Given the description of an element on the screen output the (x, y) to click on. 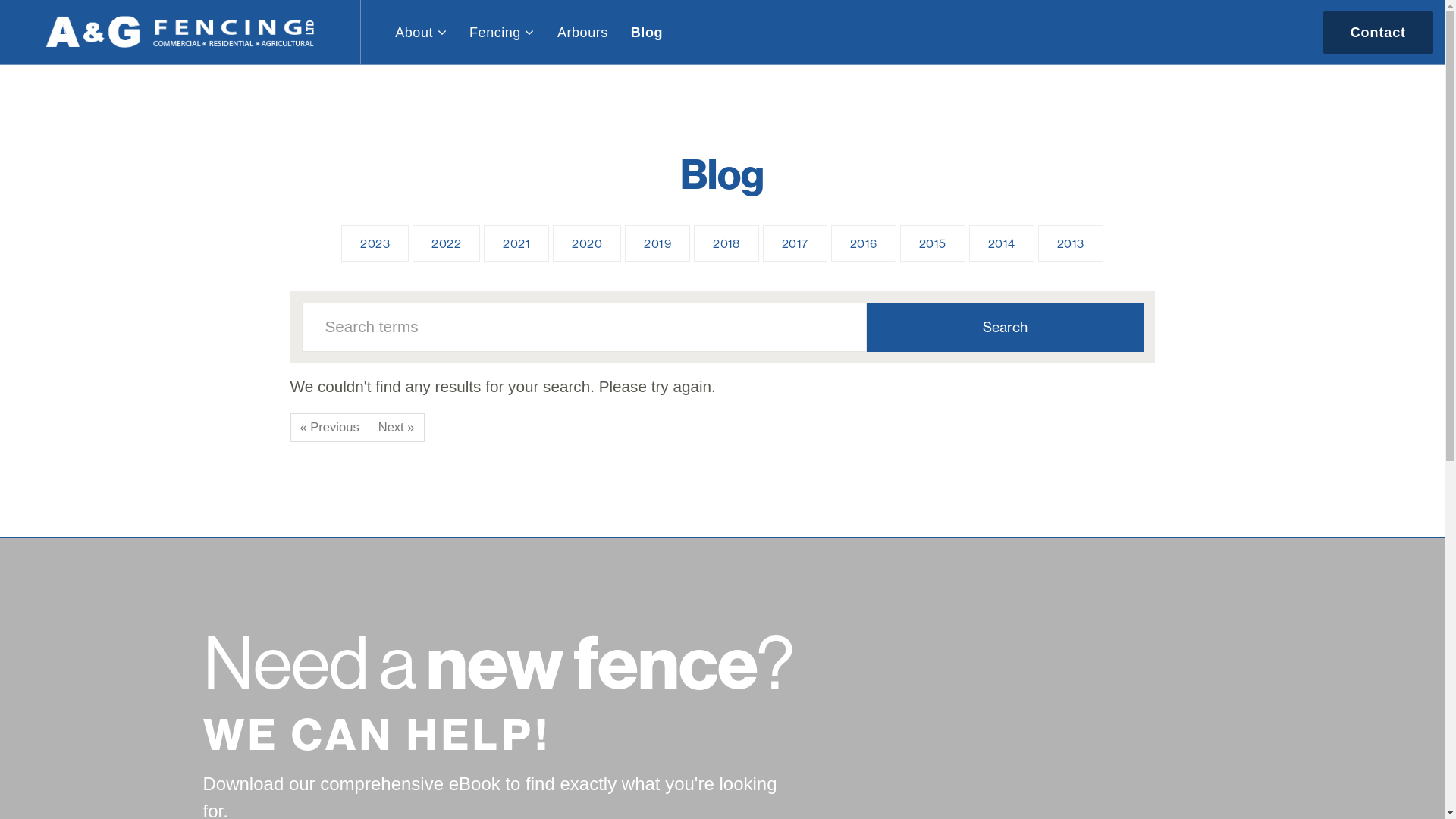
2016 Element type: text (863, 242)
2013 Element type: text (1070, 242)
2018 Element type: text (726, 242)
A&G Fencing - Staging  Element type: hover (180, 32)
2020 Element type: text (586, 242)
Contact Element type: text (1378, 31)
Arbours Element type: text (582, 31)
2021 Element type: text (516, 242)
2019 Element type: text (657, 242)
About Element type: text (420, 31)
Fencing Element type: text (502, 31)
Search Element type: text (1004, 326)
2015 Element type: text (932, 242)
2023 Element type: text (374, 242)
2022 Element type: text (446, 242)
2017 Element type: text (794, 242)
Blog Element type: text (646, 31)
2014 Element type: text (1001, 242)
